Given the description of an element on the screen output the (x, y) to click on. 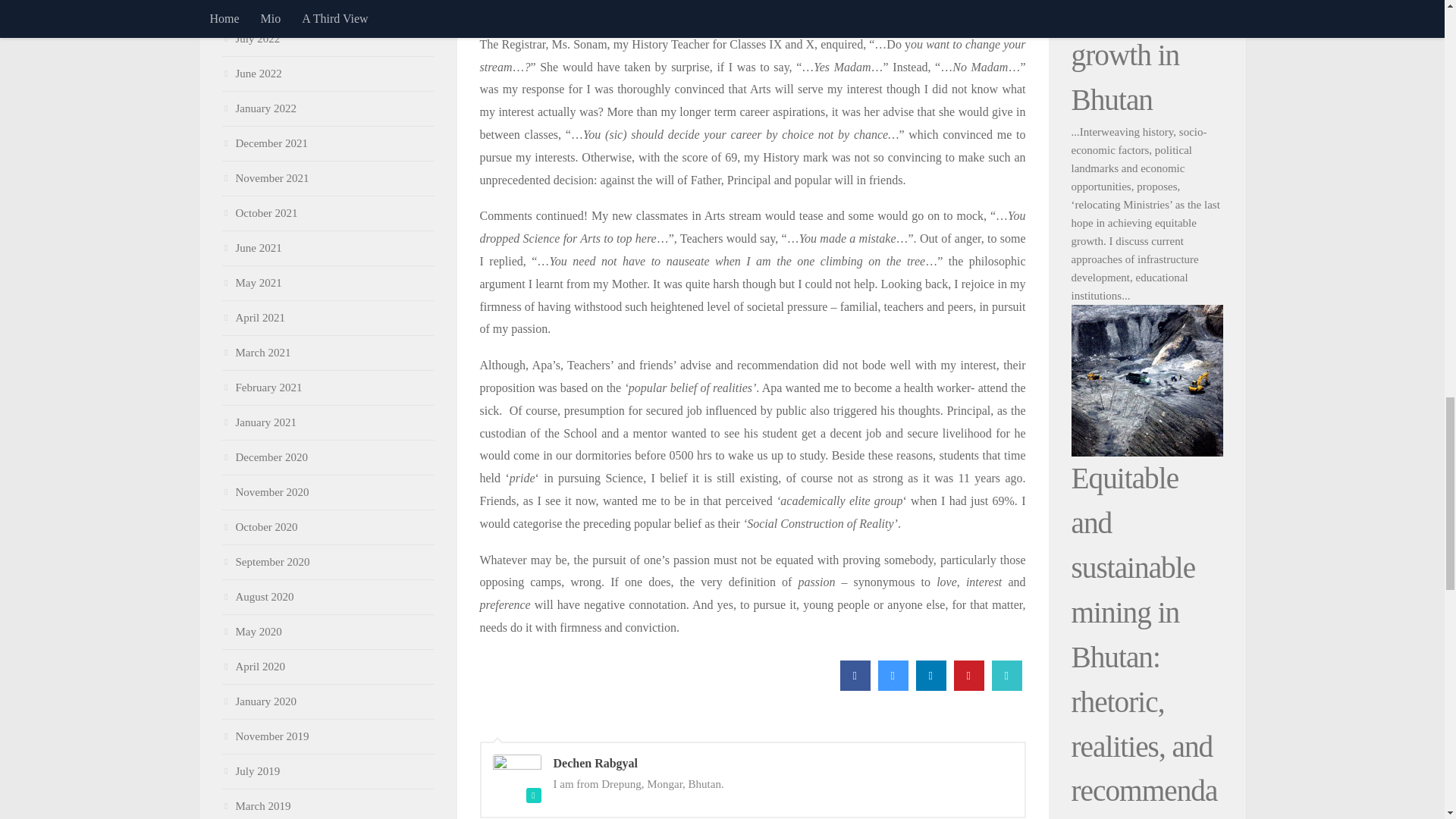
Share on Pinterest (968, 686)
Share on Facebook (855, 686)
Share to LinkedIn (930, 686)
Share on Twitter (892, 686)
Print this page (1006, 686)
